Given the description of an element on the screen output the (x, y) to click on. 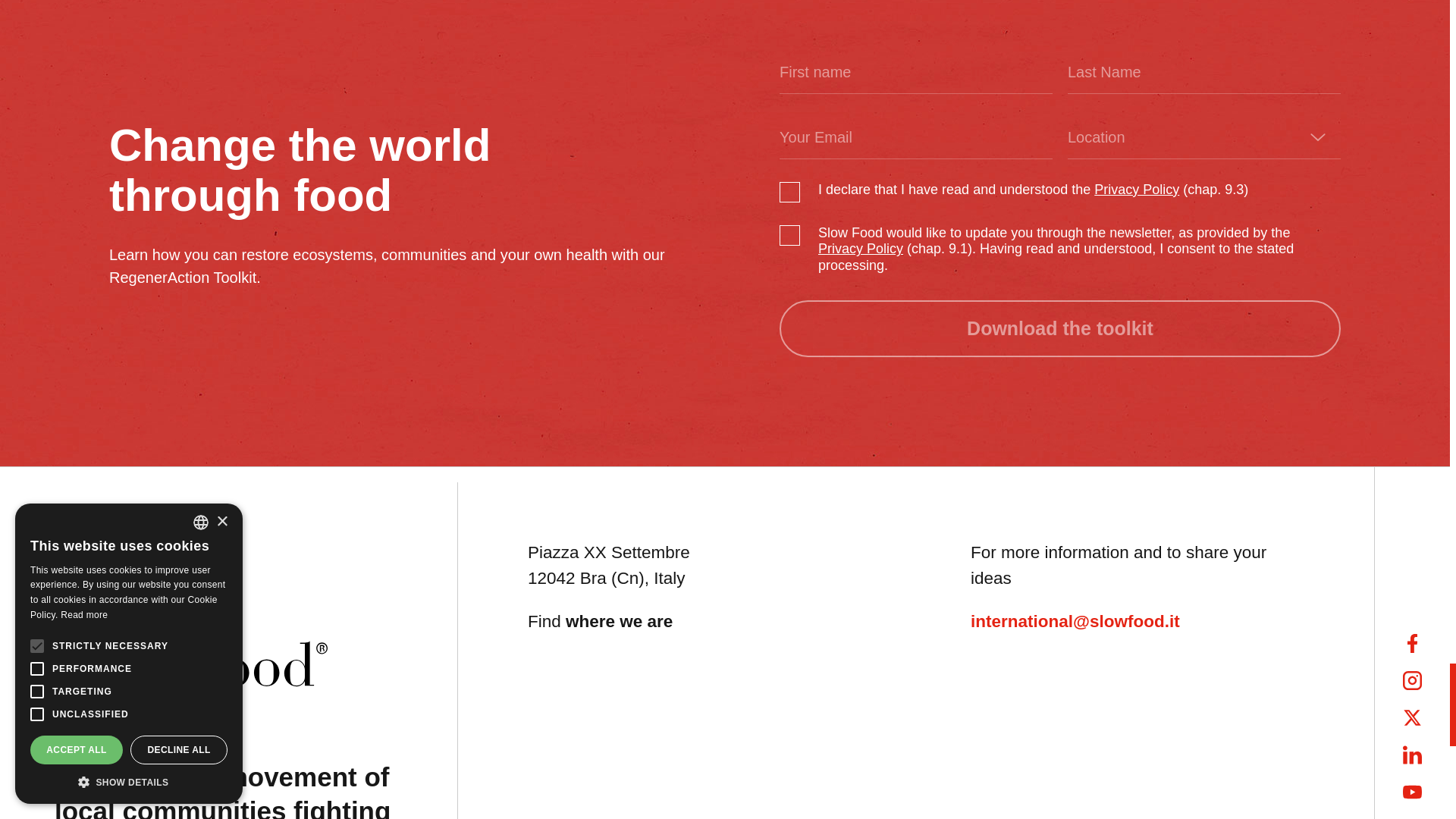
Accetto la Privacy Policy (1136, 190)
Accetto la Privacy Policy (860, 248)
Follow us on twitter (1412, 717)
Follow us on instagram (1412, 680)
Slow Food (191, 621)
